Given the description of an element on the screen output the (x, y) to click on. 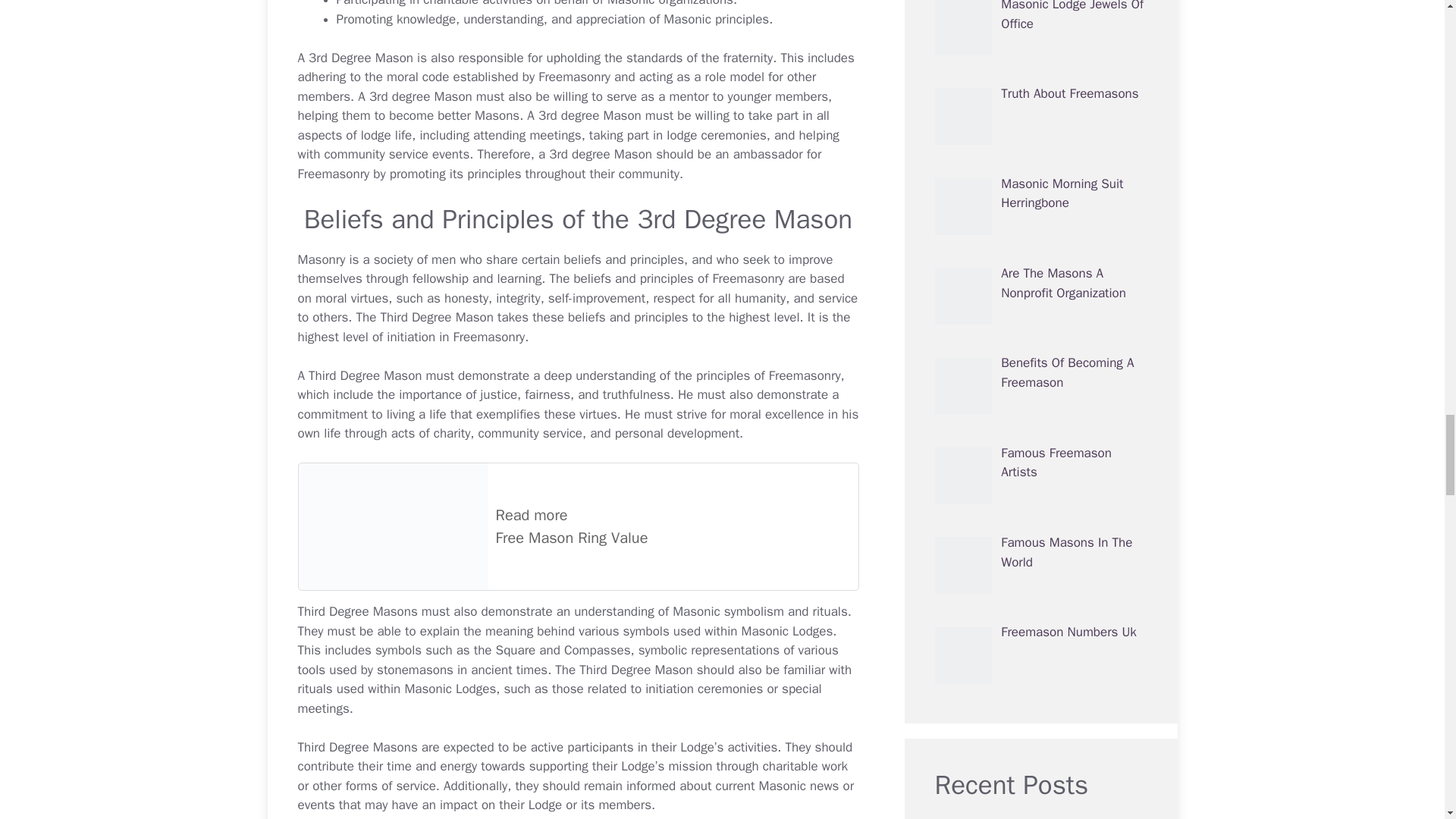
How To Become A Masonic Mason (453, 115)
Mason takes these beliefs (530, 317)
Masonic organizations (670, 3)
become better Masons (453, 115)
Reddit Freemasonry Initiation (455, 336)
Masonic Organizations Near Me (670, 3)
Masonic Symbol Headstones (728, 611)
What Are The Masonic Beliefs (530, 317)
initiation in Freemasonry (455, 336)
